Given the description of an element on the screen output the (x, y) to click on. 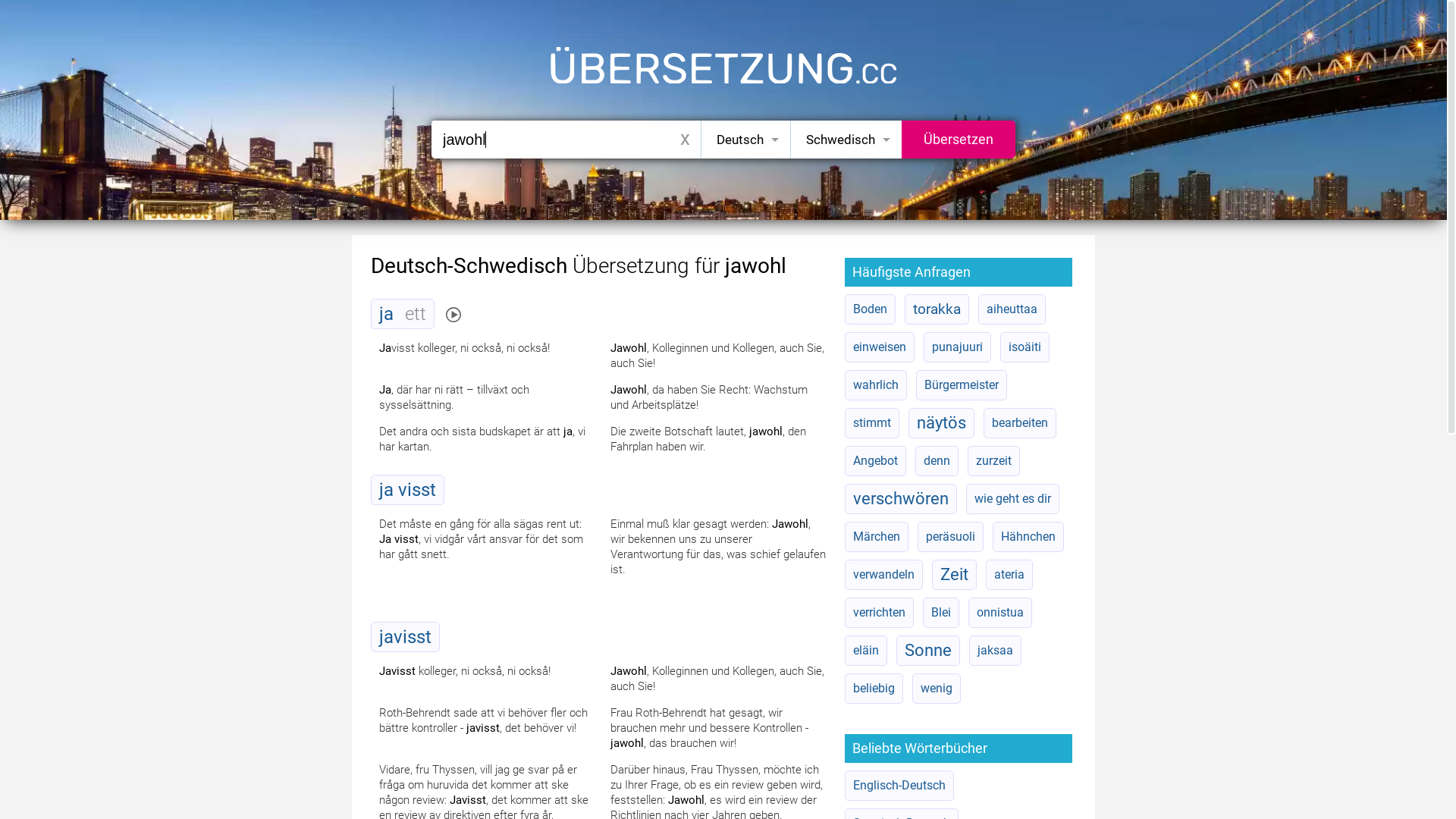
wie geht es dir Element type: text (1012, 498)
verrichten Element type: text (878, 612)
Angebot Element type: text (875, 460)
wahrlich Element type: text (875, 385)
ateria Element type: text (1008, 574)
beliebig Element type: text (873, 688)
denn Element type: text (936, 460)
javisst Element type: text (404, 636)
Boden Element type: text (869, 309)
bearbeiten Element type: text (1019, 422)
einweisen Element type: text (879, 347)
punajuuri Element type: text (957, 347)
jaett Element type: text (402, 313)
onnistua Element type: text (1000, 612)
verwandeln Element type: text (883, 574)
Zeit Element type: text (953, 574)
jaksaa Element type: text (995, 650)
wenig Element type: text (936, 688)
aiheuttaa Element type: text (1011, 309)
stimmt Element type: text (871, 422)
Sonne Element type: text (928, 650)
Englisch-Deutsch Element type: text (898, 785)
zurzeit Element type: text (993, 460)
ja visst Element type: text (407, 489)
Blei Element type: text (940, 612)
torakka Element type: text (936, 309)
